Given the description of an element on the screen output the (x, y) to click on. 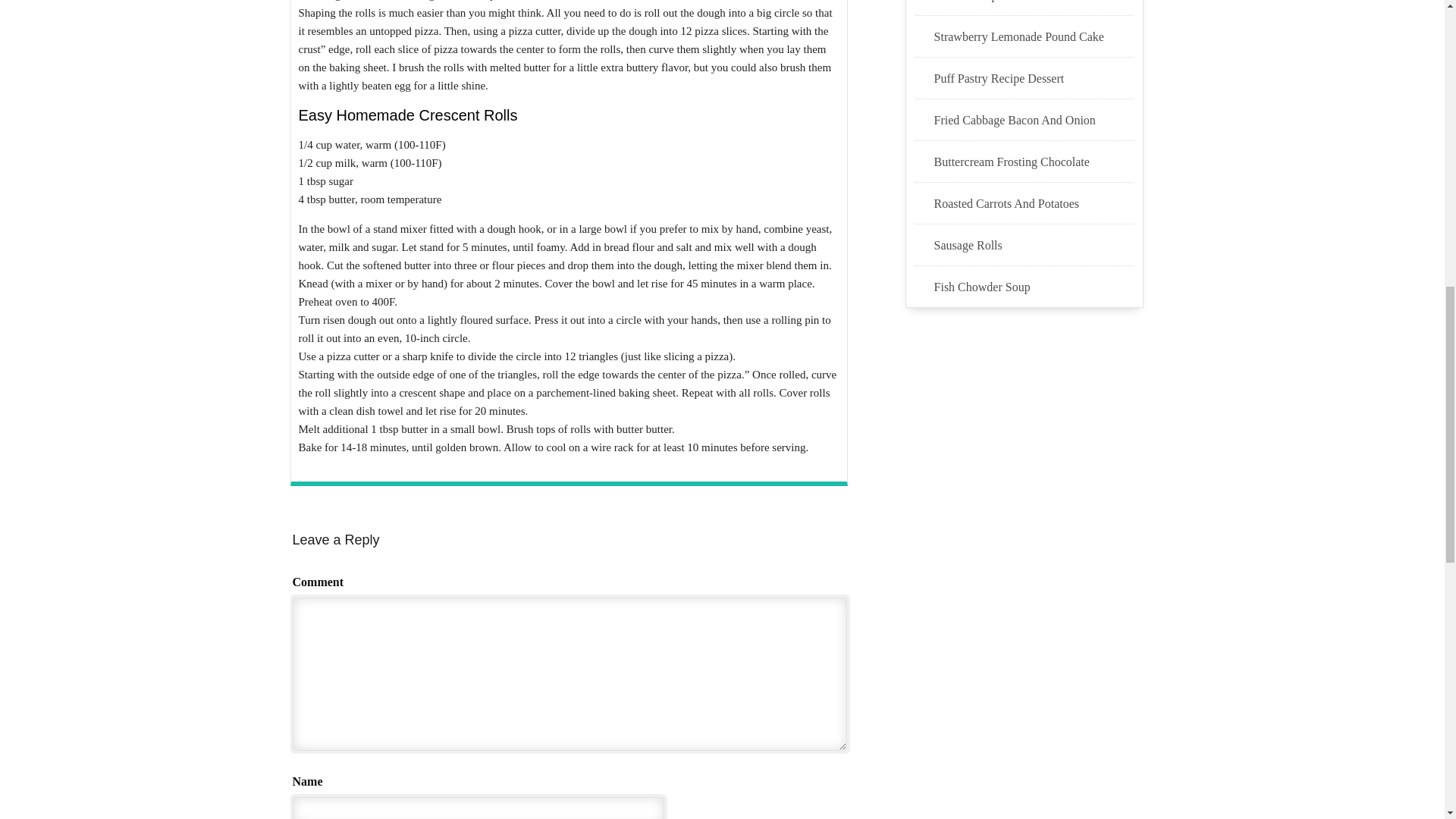
Buttercream Frosting Chocolate (1034, 162)
Sausage Rolls (1034, 245)
Strawberry Lemonade Pound Cake (1034, 36)
Noodle Soup (1034, 2)
Fried Cabbage Bacon And Onion (1034, 120)
Roasted Carrots And Potatoes (1034, 203)
Fish Chowder Soup (1034, 287)
Puff Pastry Recipe Dessert (1034, 78)
